Given the description of an element on the screen output the (x, y) to click on. 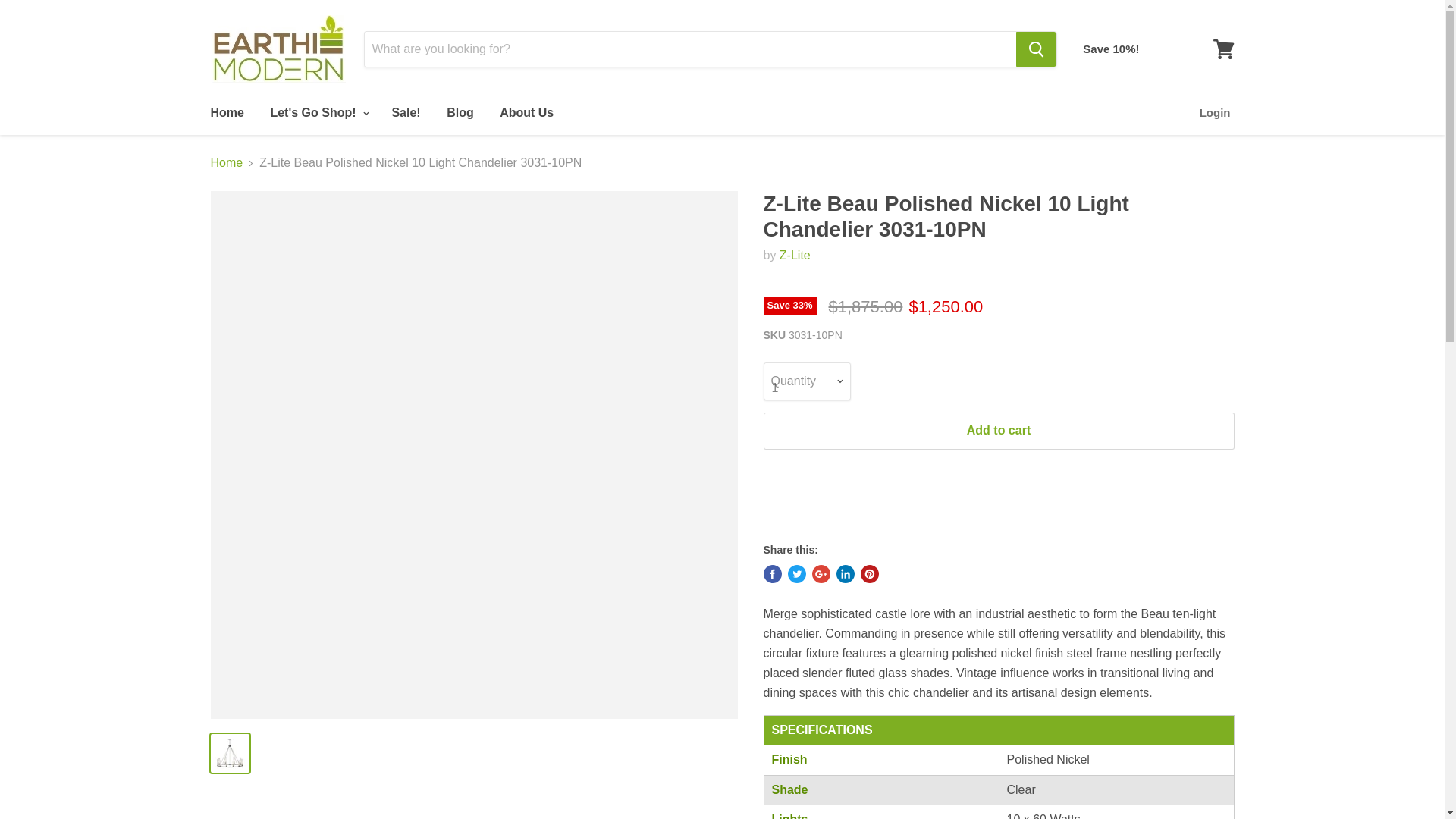
About Us (525, 112)
View cart (1223, 48)
Login (1215, 112)
Let's Go Shop! (318, 112)
Z-Lite (794, 254)
Sale! (405, 112)
Blog (459, 112)
Home (226, 112)
